Given the description of an element on the screen output the (x, y) to click on. 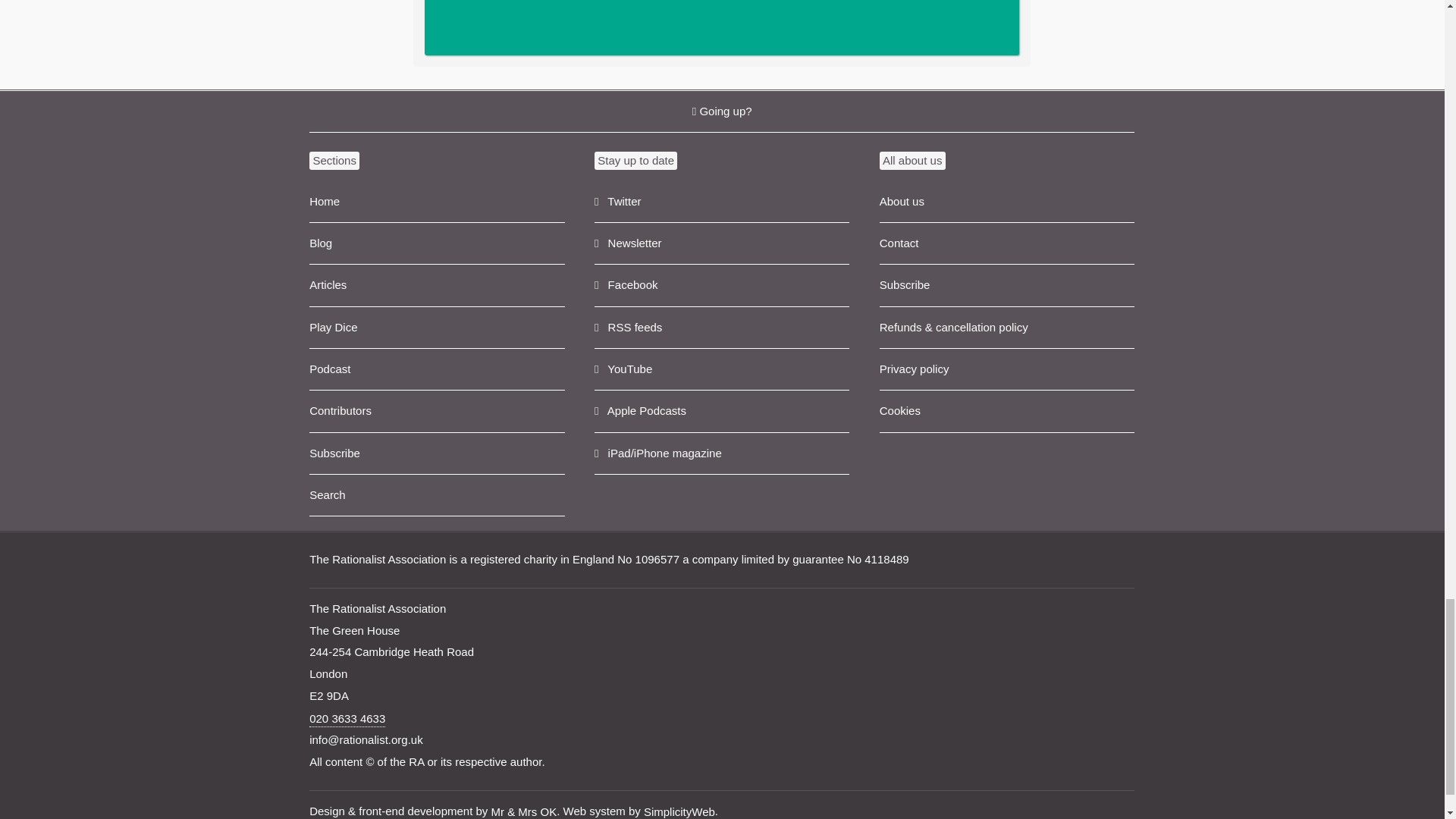
YouTube (721, 369)
RSS feeds (721, 327)
Search (436, 495)
Podcast (436, 369)
Play Dice (436, 327)
Twitter (721, 201)
Facebook (721, 285)
Contact (1006, 243)
About us (1006, 201)
Blog (436, 243)
